Given the description of an element on the screen output the (x, y) to click on. 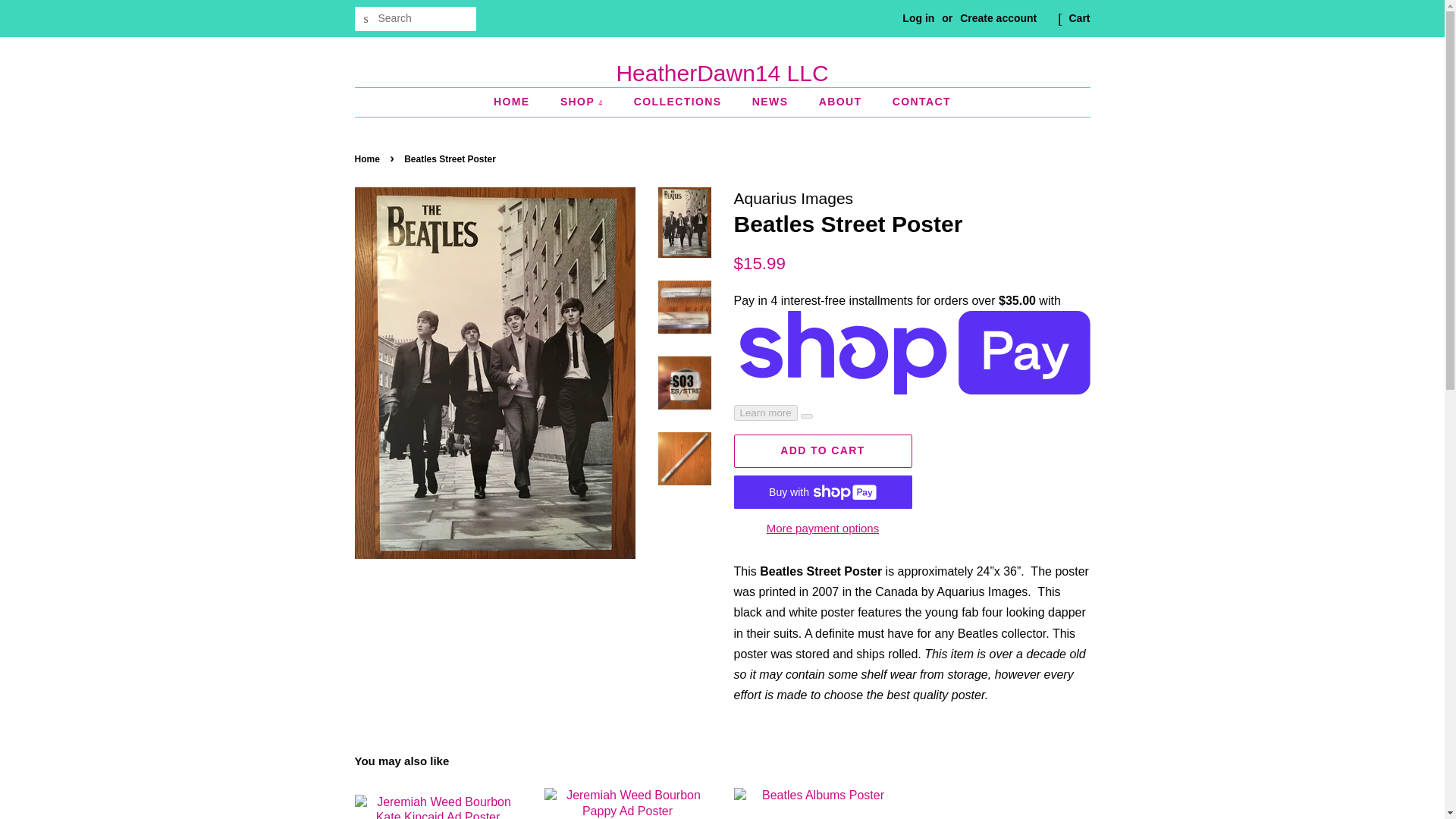
SEARCH (366, 18)
CONTACT (915, 102)
Create account (997, 18)
Log in (918, 18)
SHOP (583, 102)
COLLECTIONS (679, 102)
Back to the frontpage (369, 158)
More payment options (822, 527)
HOME (518, 102)
NEWS (772, 102)
HeatherDawn14 LLC (722, 72)
ADD TO CART (822, 450)
ABOUT (842, 102)
Home (369, 158)
Cart (1078, 18)
